Given the description of an element on the screen output the (x, y) to click on. 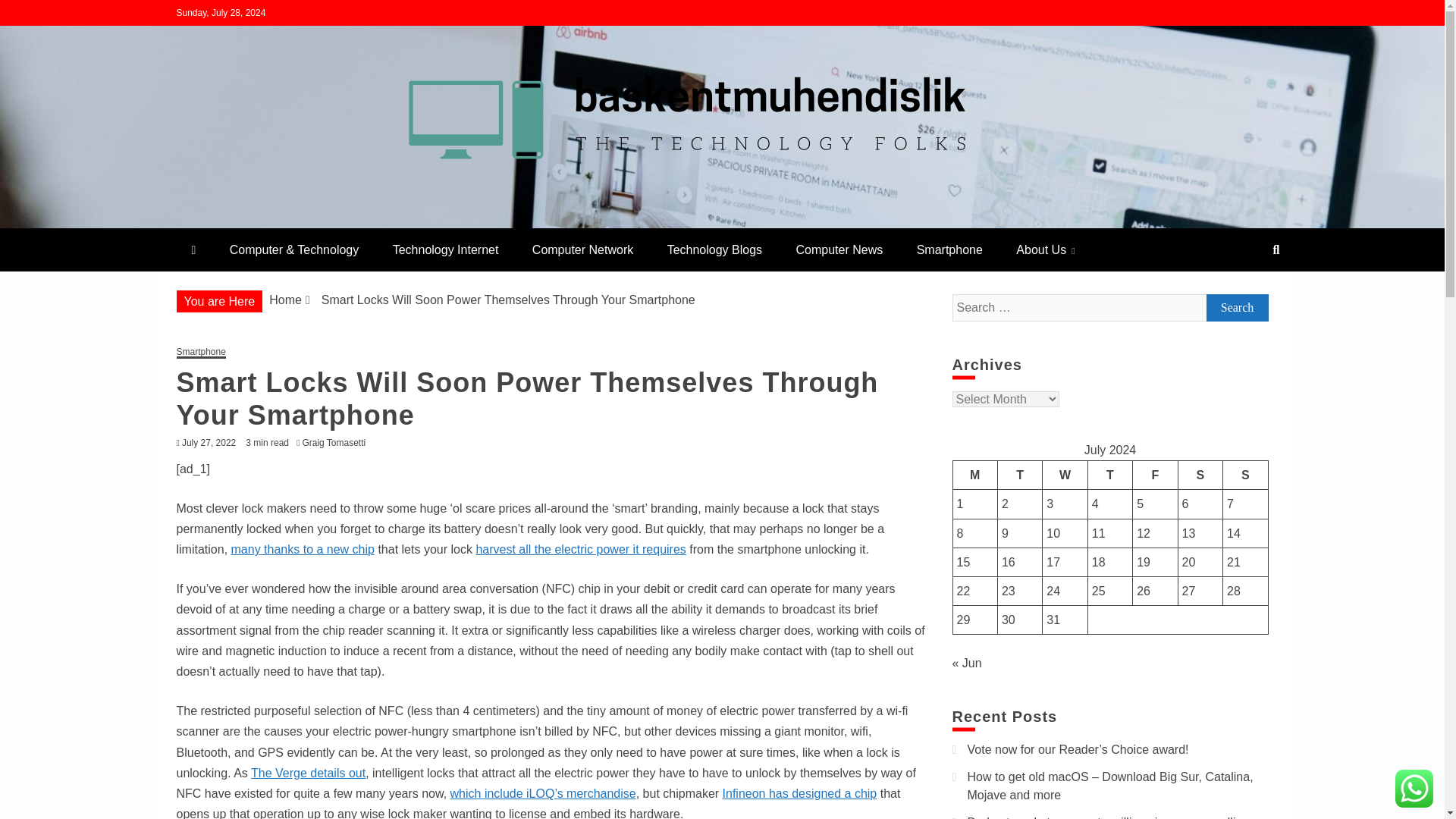
Technology Blogs (714, 249)
Graig Tomasetti (336, 442)
Smartphone (200, 352)
July 27, 2022 (208, 442)
Computer News (839, 249)
About Us (1045, 249)
Thursday (1109, 475)
Tuesday (1019, 475)
Search (1236, 307)
harvest all the electric power it requires (580, 549)
Computer Network (581, 249)
Search (1236, 307)
Monday (974, 475)
The Verge details out (307, 772)
many thanks to a new chip (302, 549)
